Given the description of an element on the screen output the (x, y) to click on. 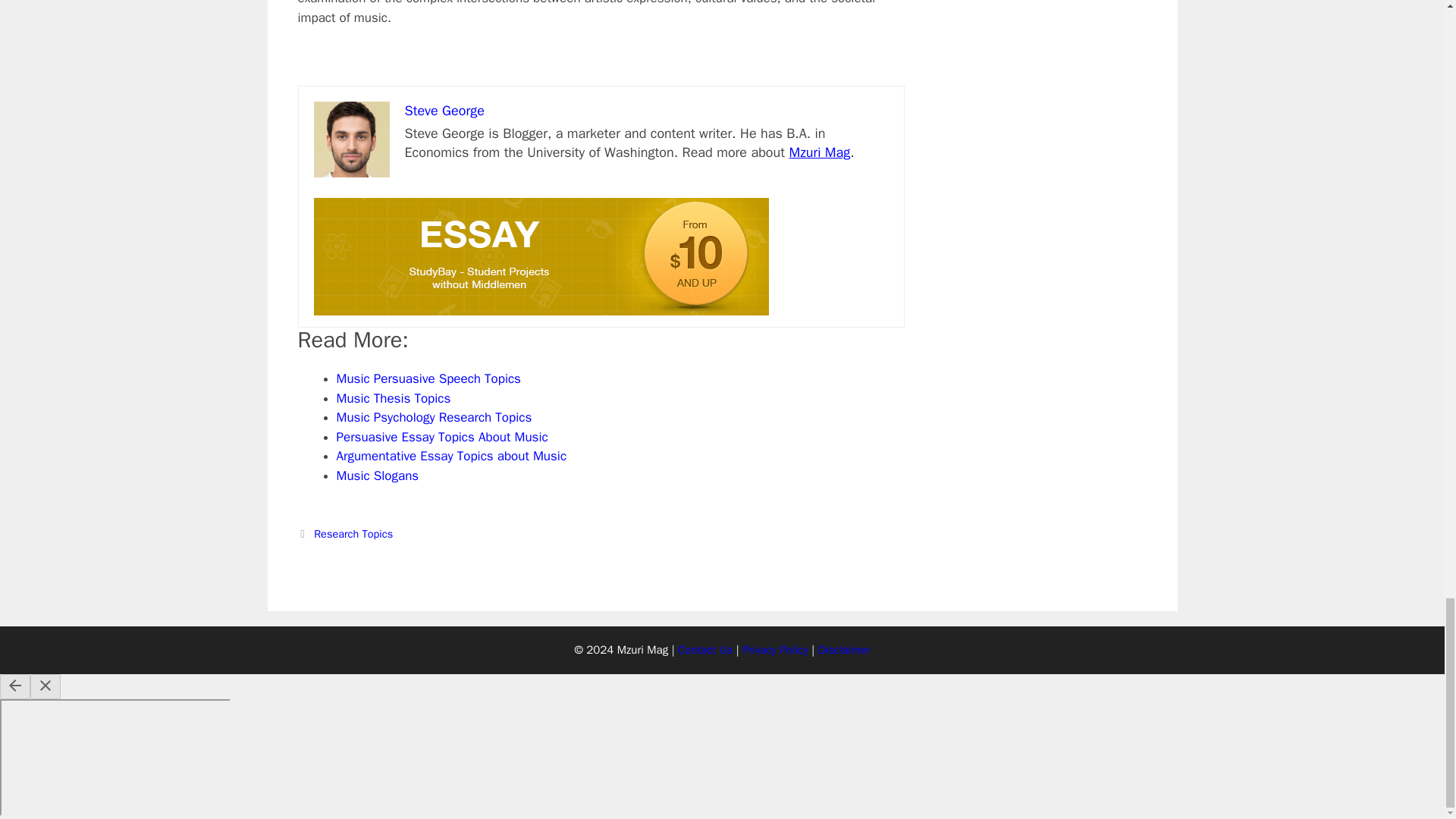
Music Psychology Research Topics (434, 417)
Persuasive Essay Topics About Music (442, 437)
Music Persuasive Speech Topics (428, 378)
Music Thesis Topics (393, 398)
Research Topics (353, 533)
Music Slogans (377, 475)
Mzuri Mag (819, 152)
Steve George (444, 110)
Argumentative Essay Topics about Music (451, 455)
